Given the description of an element on the screen output the (x, y) to click on. 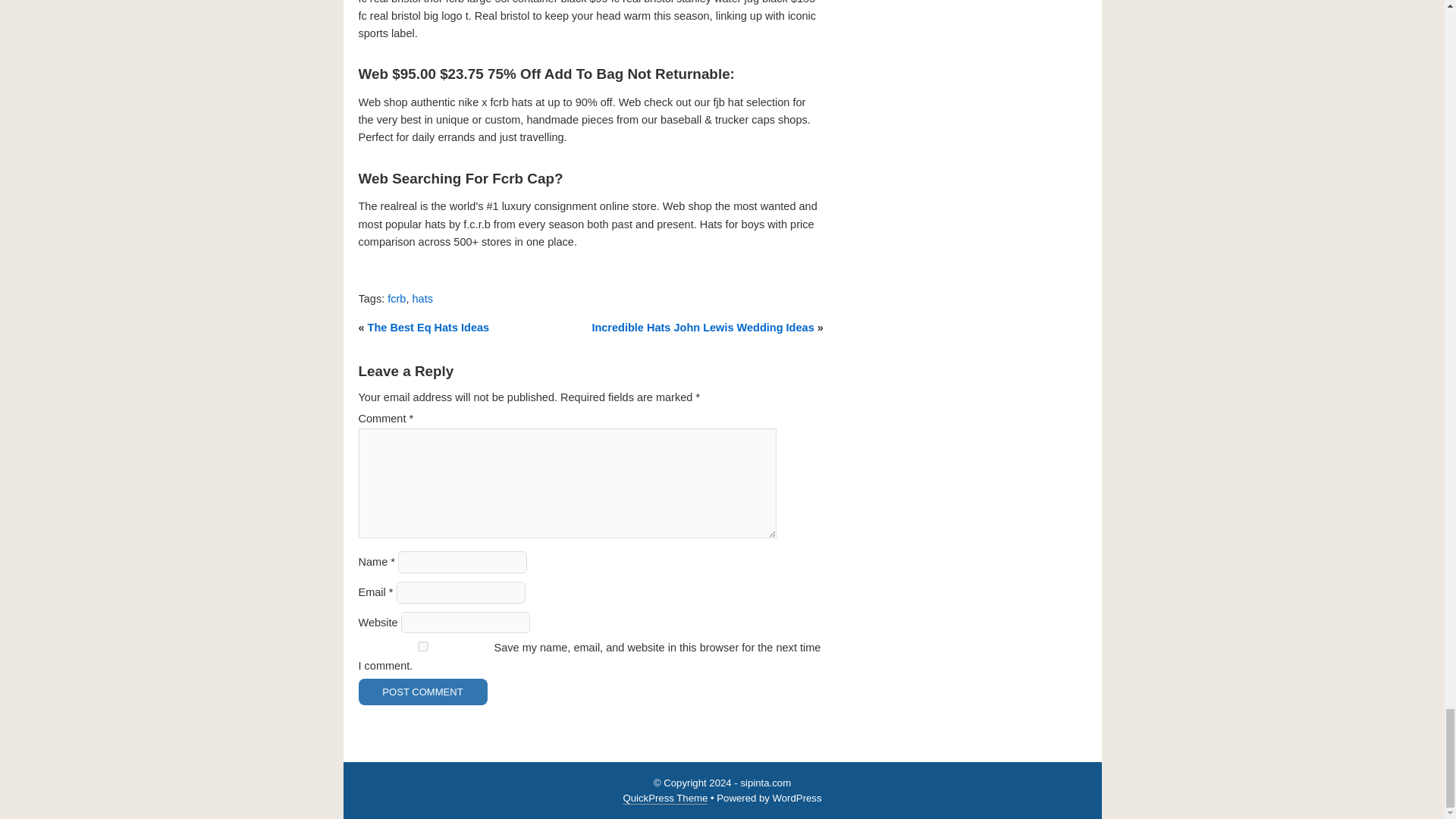
Incredible Hats John Lewis Wedding Ideas (702, 327)
Post Comment (422, 691)
The Best Eq Hats Ideas (428, 327)
yes (422, 646)
hats (422, 298)
Post Comment (422, 691)
fcrb (396, 298)
